Given the description of an element on the screen output the (x, y) to click on. 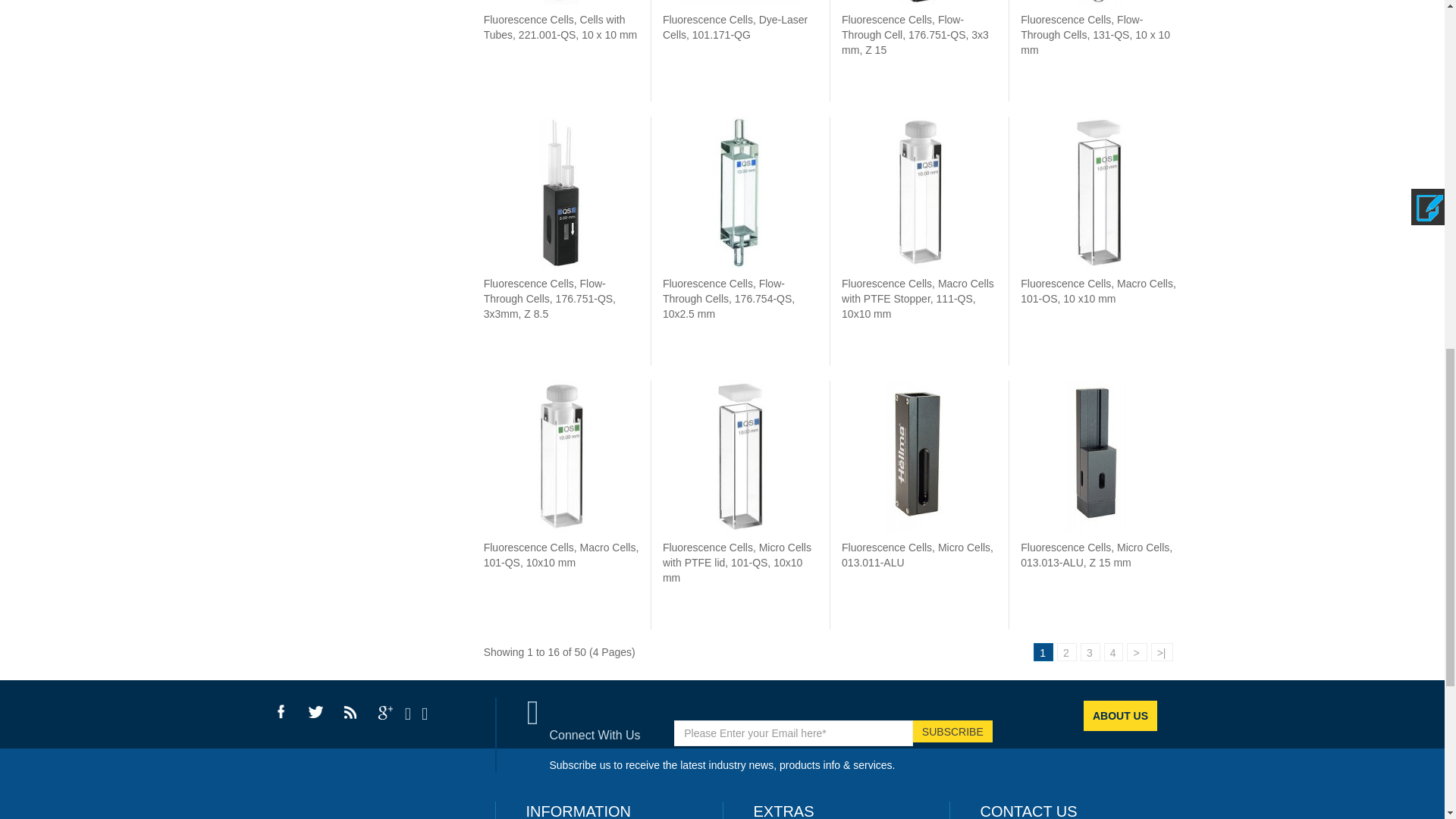
Fluorescence Cells, Dye-Laser Cells, 101.171-QG (739, 2)
Fluorescence Cells, Cells with Tubes, 221.001-QS, 10 x 10 mm (560, 26)
SUBSCRIBE (952, 731)
Fluorescence Cells, Cells with Tubes, 221.001-QS, 10 x 10 mm (560, 2)
Fluorescence Cells, Dye-Laser Cells, 101.171-QG (735, 26)
